Given the description of an element on the screen output the (x, y) to click on. 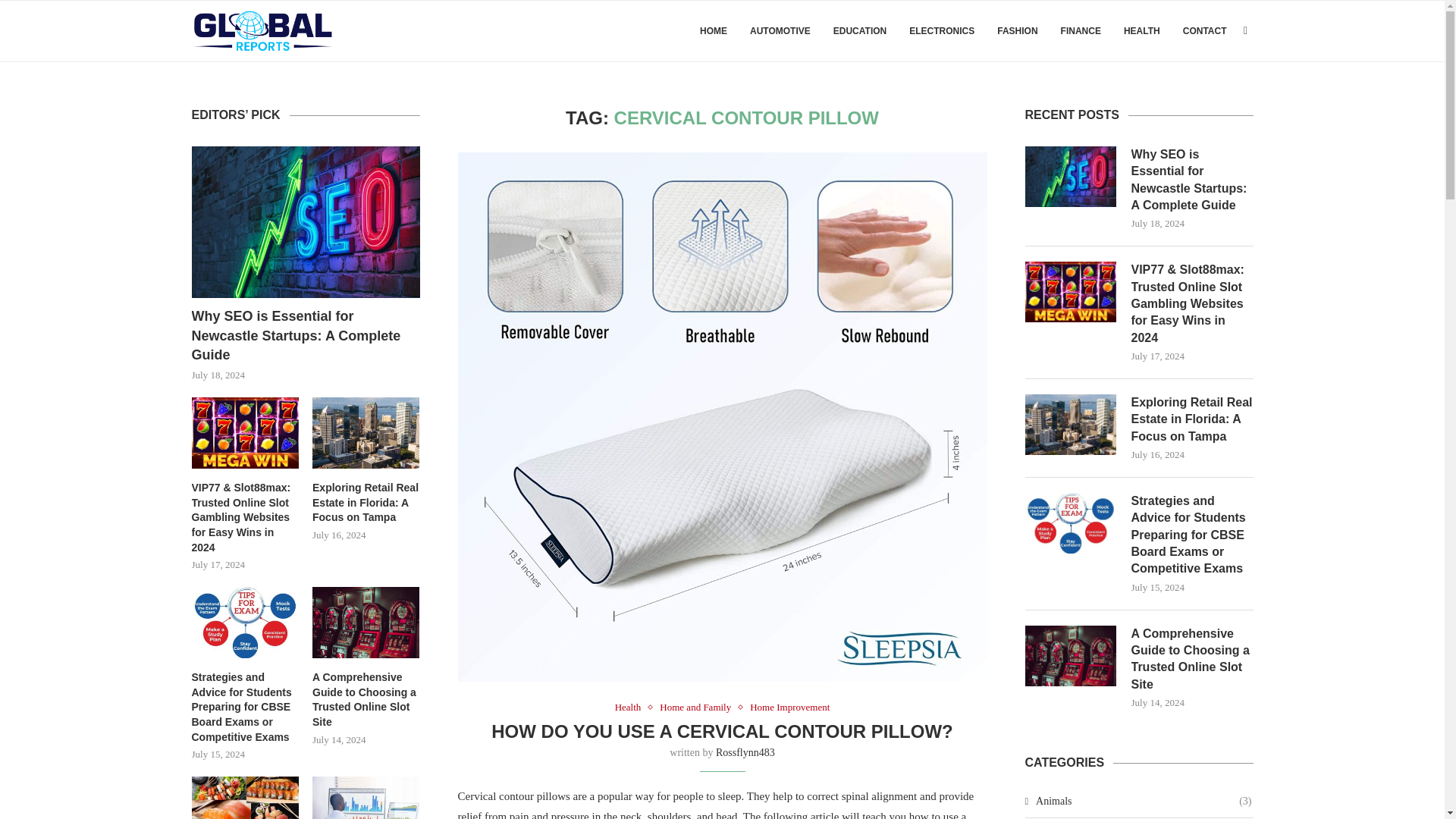
Exploring Retail Real Estate in Florida: A Focus on Tampa (1192, 419)
ELECTRONICS (941, 30)
HOW DO YOU USE A CERVICAL CONTOUR PILLOW? (722, 731)
A Comprehensive Guide to Choosing a Trusted Online Slot Site (1192, 659)
AUTOMOTIVE (779, 30)
A Comprehensive Guide to Choosing a Trusted Online Slot Site (1192, 659)
Rossflynn483 (745, 752)
A Comprehensive Guide to Choosing a Trusted Online Slot Site (1070, 655)
Health (631, 707)
Home and Family (698, 707)
